Given the description of an element on the screen output the (x, y) to click on. 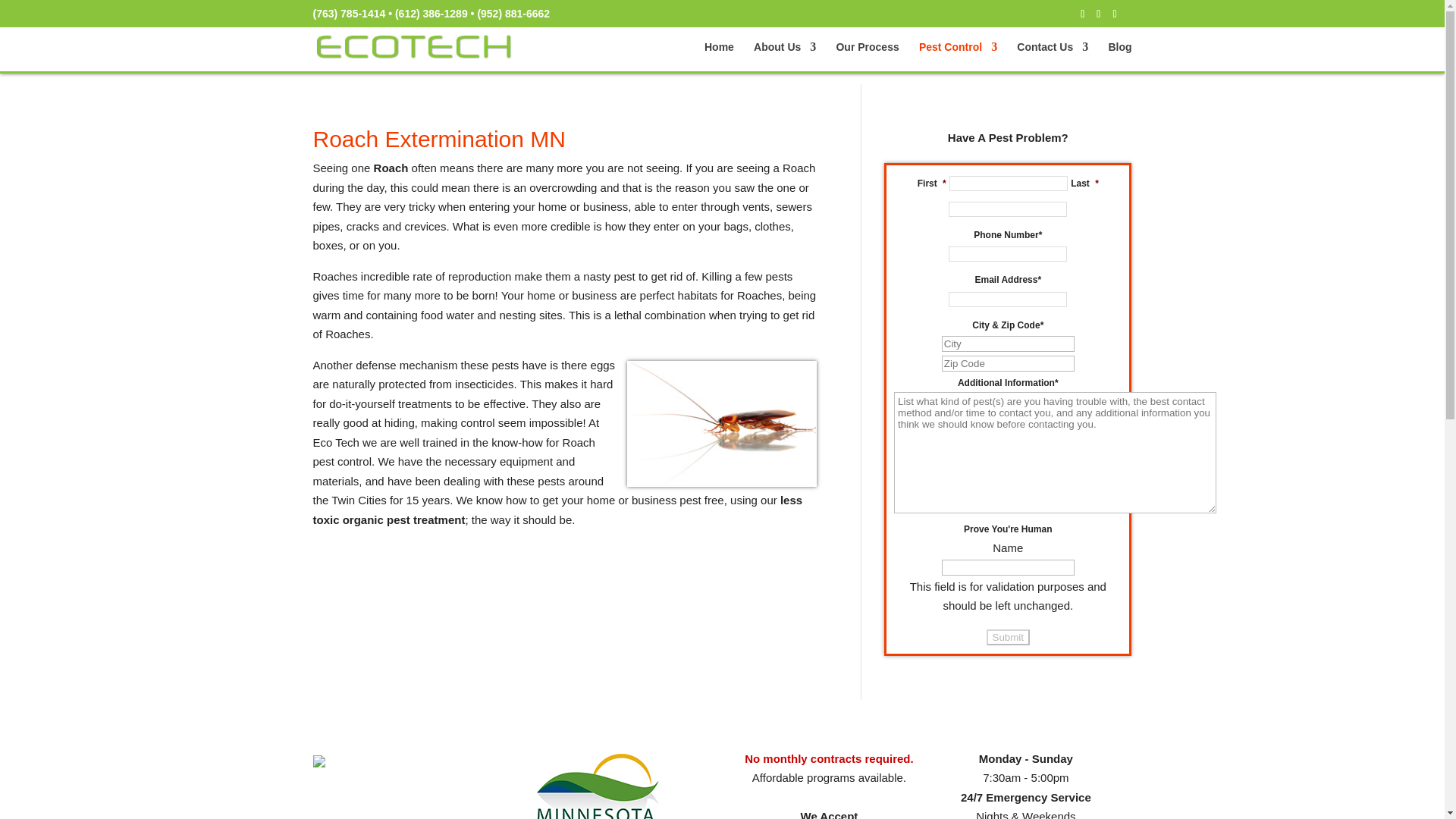
Contact Us (1051, 56)
Our Process (866, 56)
Submit (1008, 637)
Home (718, 56)
About Us (784, 56)
Pest Control (957, 56)
Submit (1008, 637)
